Given the description of an element on the screen output the (x, y) to click on. 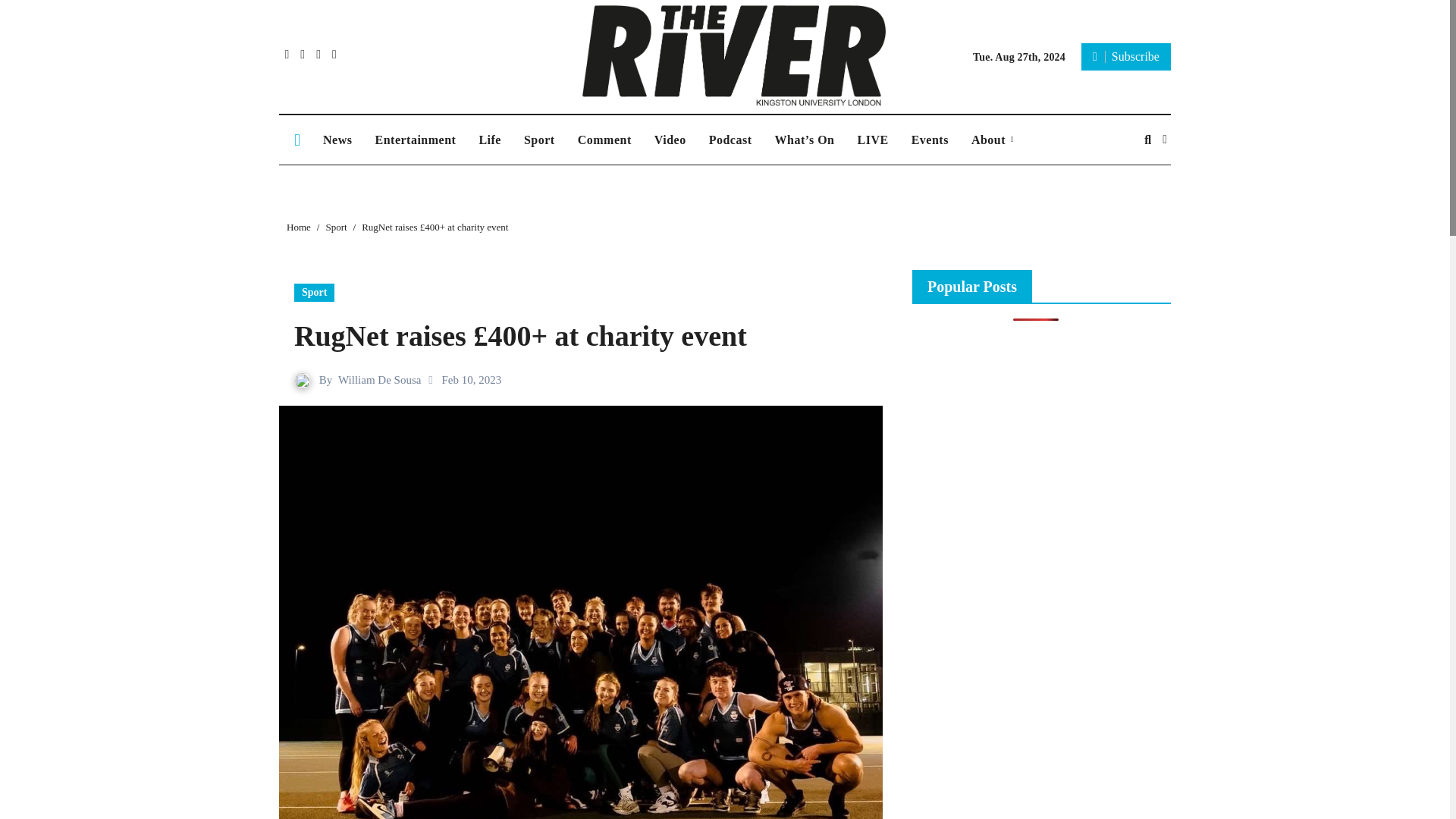
Life (489, 139)
Home (298, 226)
News (336, 139)
LIVE (872, 139)
Sport (539, 139)
Sport (539, 139)
Video (670, 139)
Entertainment (414, 139)
What's On (803, 139)
LIVE (872, 139)
